Given the description of an element on the screen output the (x, y) to click on. 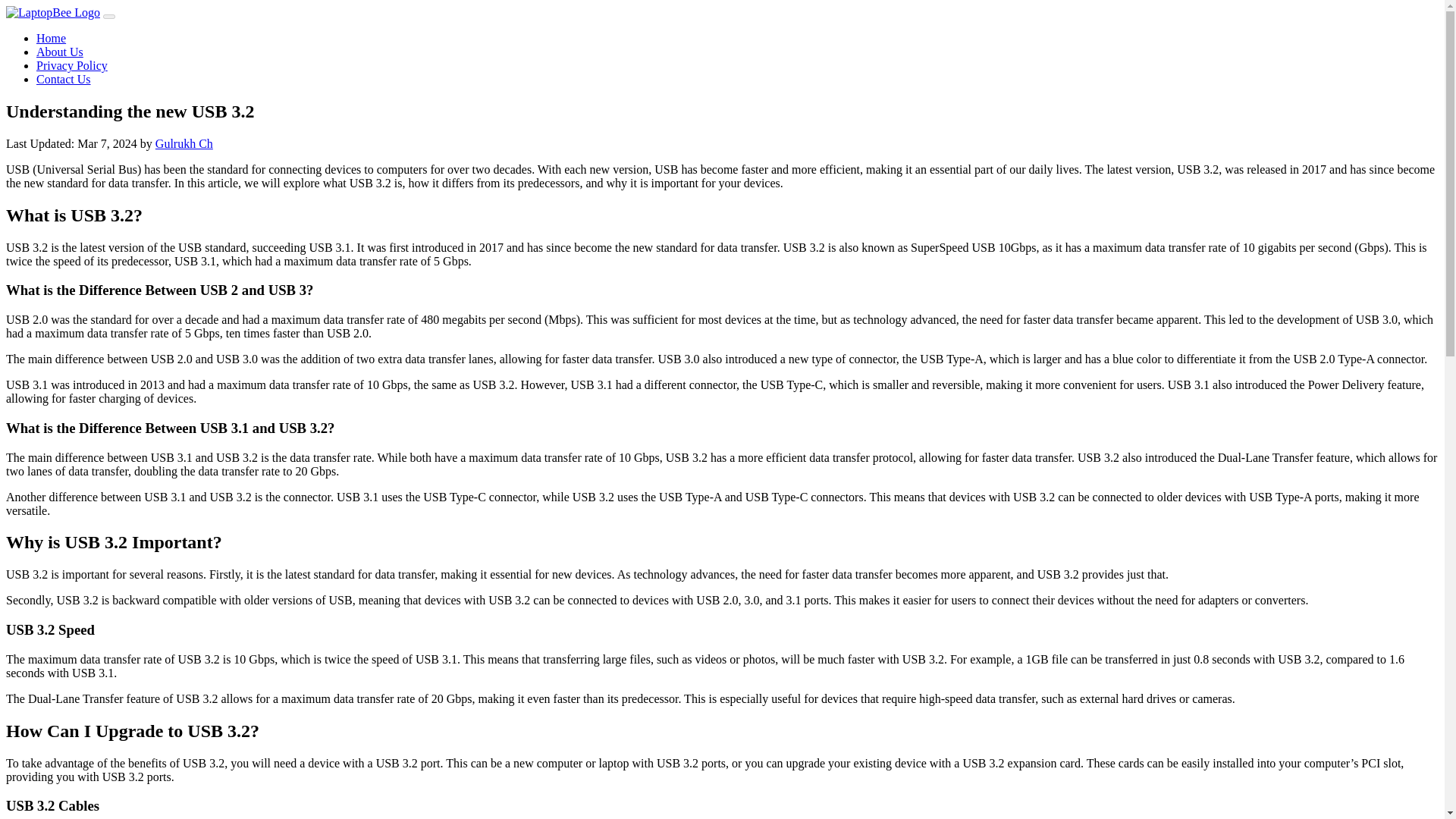
Privacy Policy (71, 65)
Contact Us (63, 78)
Posts by Gulrukh Ch (183, 143)
Home (50, 38)
Gulrukh Ch (183, 143)
About Us (59, 51)
